Given the description of an element on the screen output the (x, y) to click on. 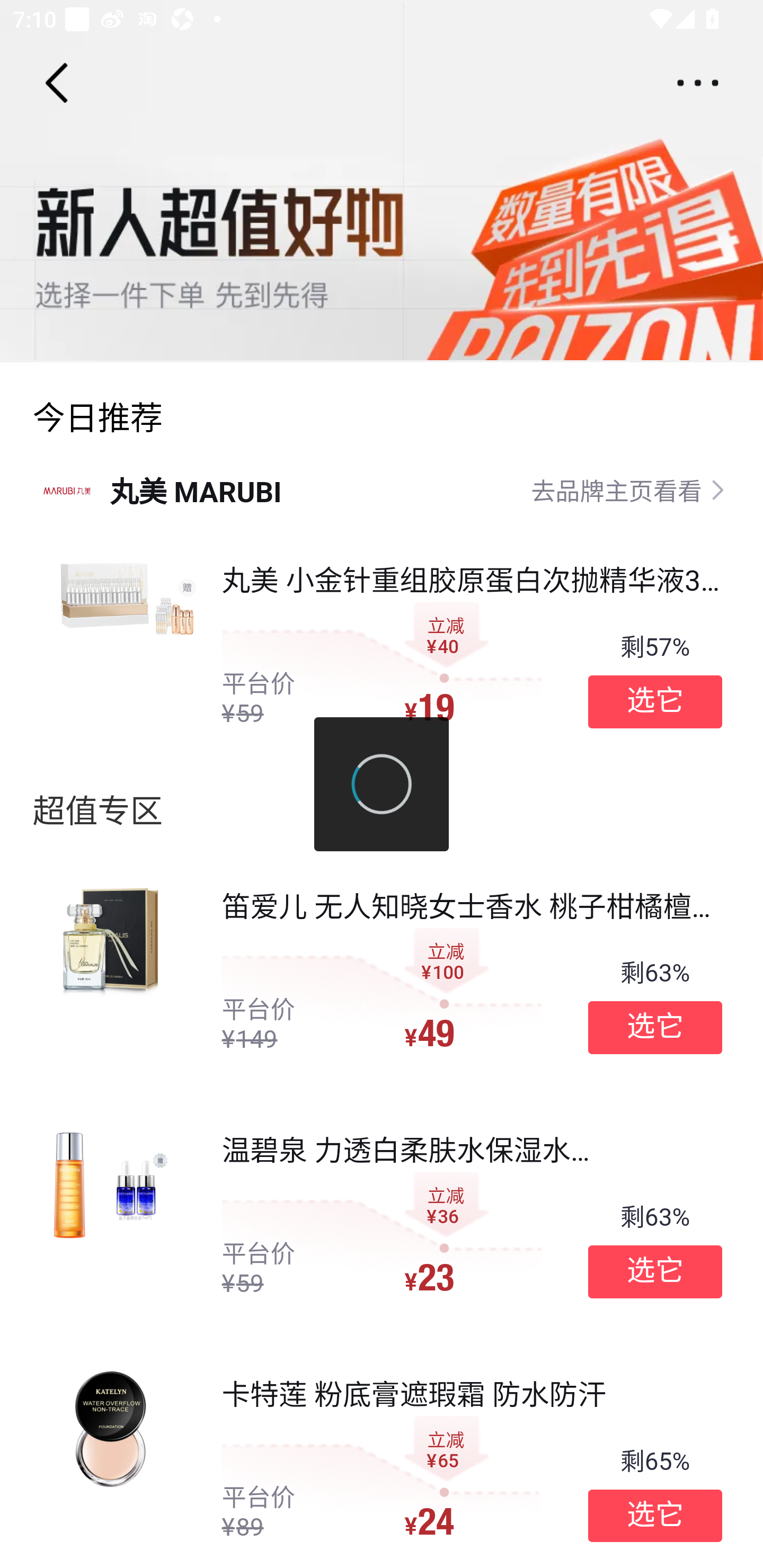
丸美 MARUBI去品牌主页看看 (381, 489)
选它 (654, 701)
选它 (654, 1027)
选它 (654, 1271)
卡特莲 粉底膏遮瑕霜 防水防汗 平台价 ¥ 89 立减¥65 ¥ 24 剩65% 选它 (381, 1452)
选它 (654, 1515)
